Given the description of an element on the screen output the (x, y) to click on. 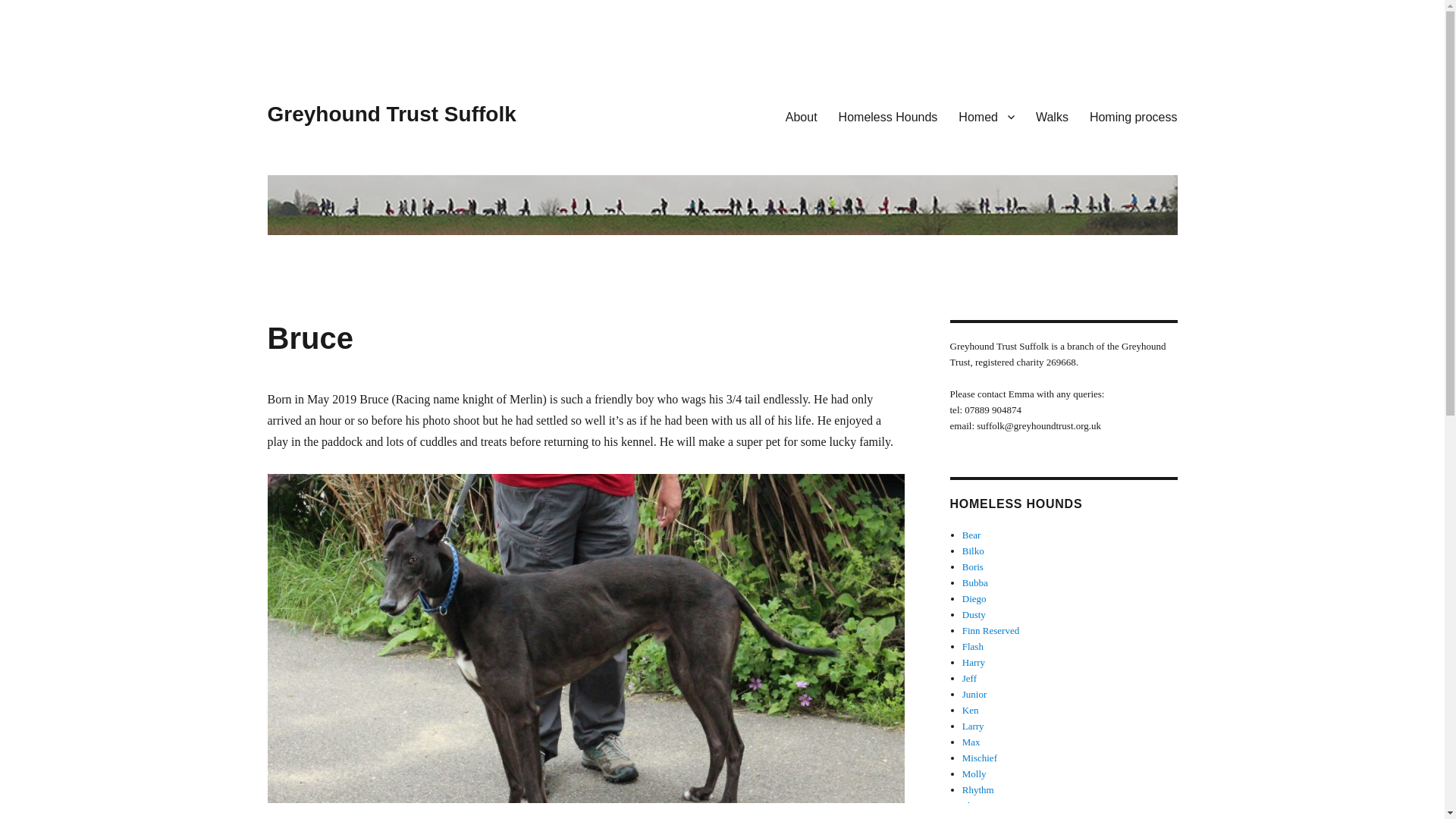
About (801, 116)
Dusty (973, 614)
Finn Reserved (990, 630)
Rhythm (978, 789)
Homed (986, 116)
Boris (973, 566)
Diego (974, 598)
Walks (1051, 116)
Jeff (969, 677)
Ken (970, 709)
Homeless Hounds (888, 116)
Homing process (1133, 116)
Mischief (979, 757)
Sparky (976, 817)
Larry (973, 726)
